Given the description of an element on the screen output the (x, y) to click on. 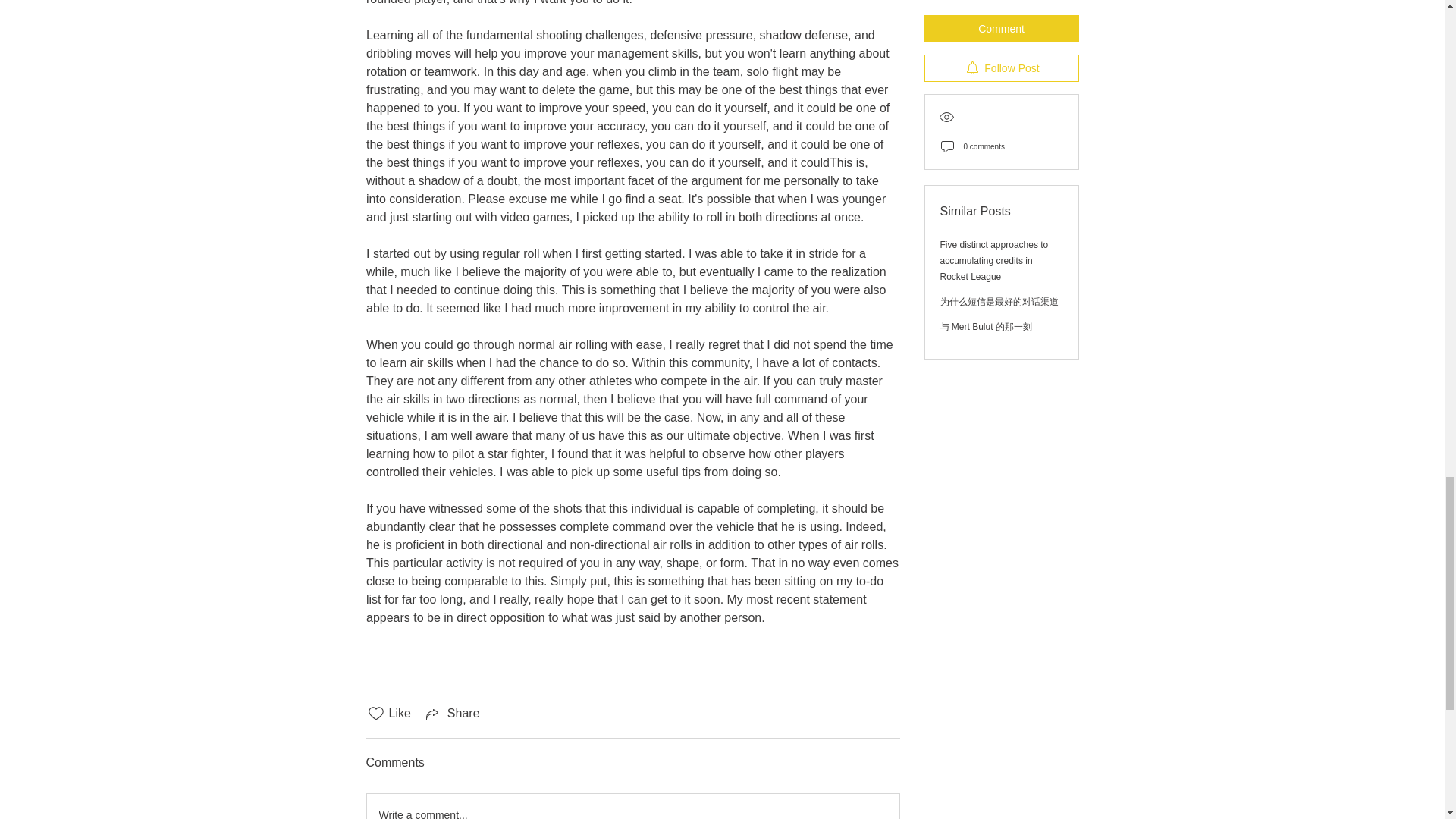
Share (451, 713)
Write a comment... (632, 806)
